Given the description of an element on the screen output the (x, y) to click on. 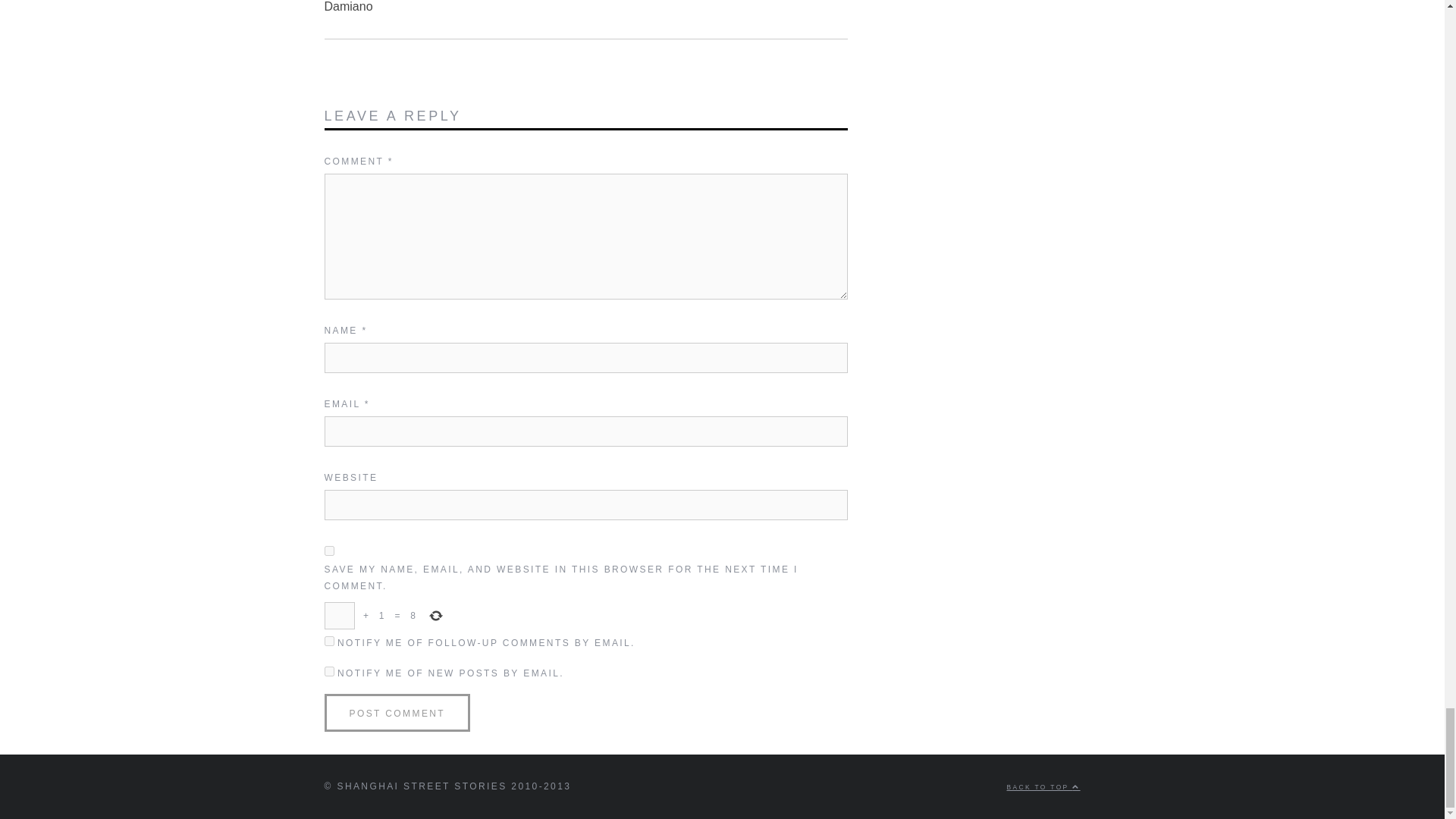
subscribe (329, 671)
Post Comment (397, 712)
yes (329, 551)
subscribe (329, 641)
